Given the description of an element on the screen output the (x, y) to click on. 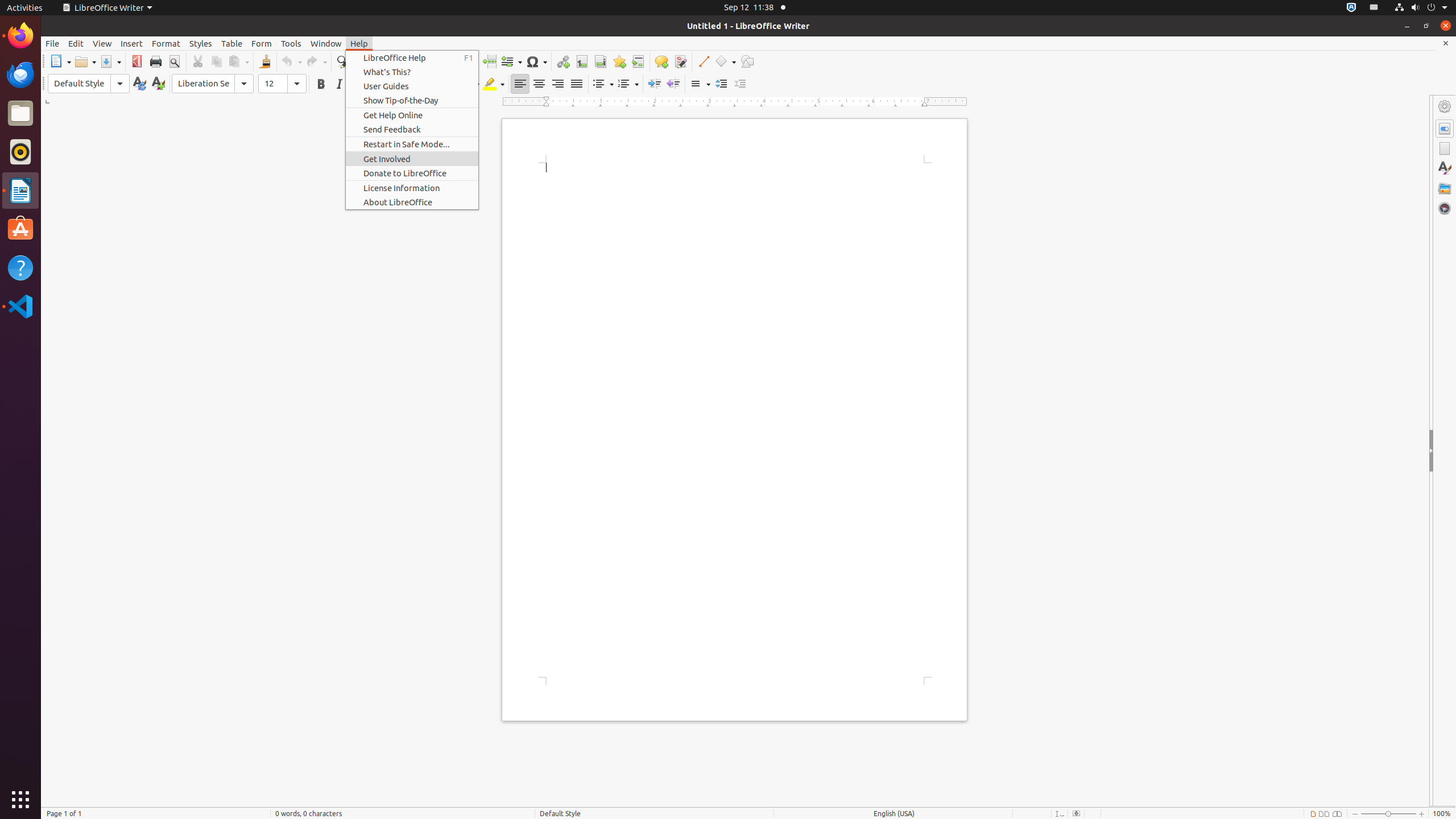
Print Preview Element type: toggle-button (173, 61)
Highlight Color Element type: push-button (493, 83)
Clone Element type: push-button (264, 61)
LibreOffice Writer Element type: menu (106, 7)
